Given the description of an element on the screen output the (x, y) to click on. 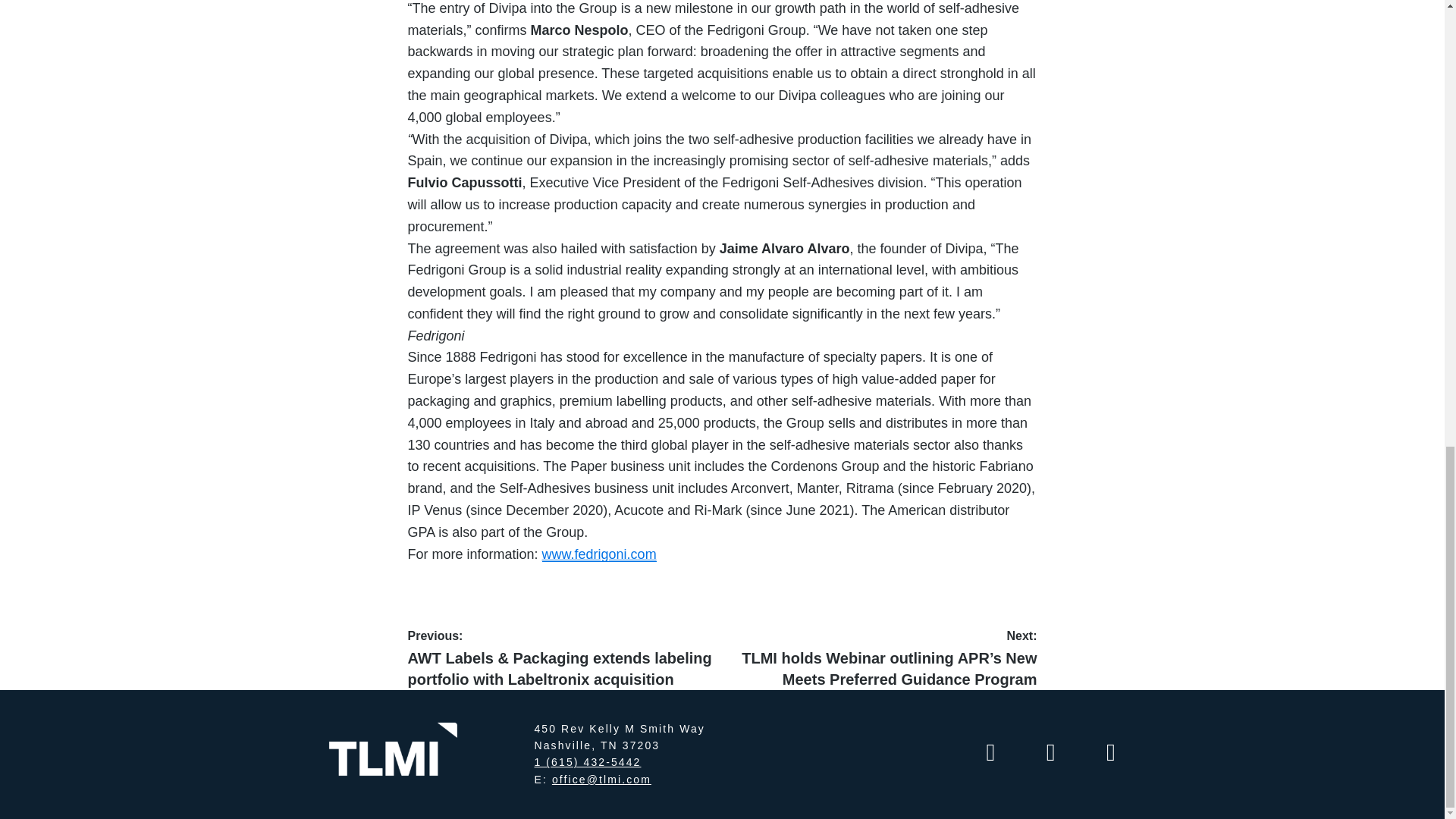
www.fedrigoni.com (598, 554)
